Given the description of an element on the screen output the (x, y) to click on. 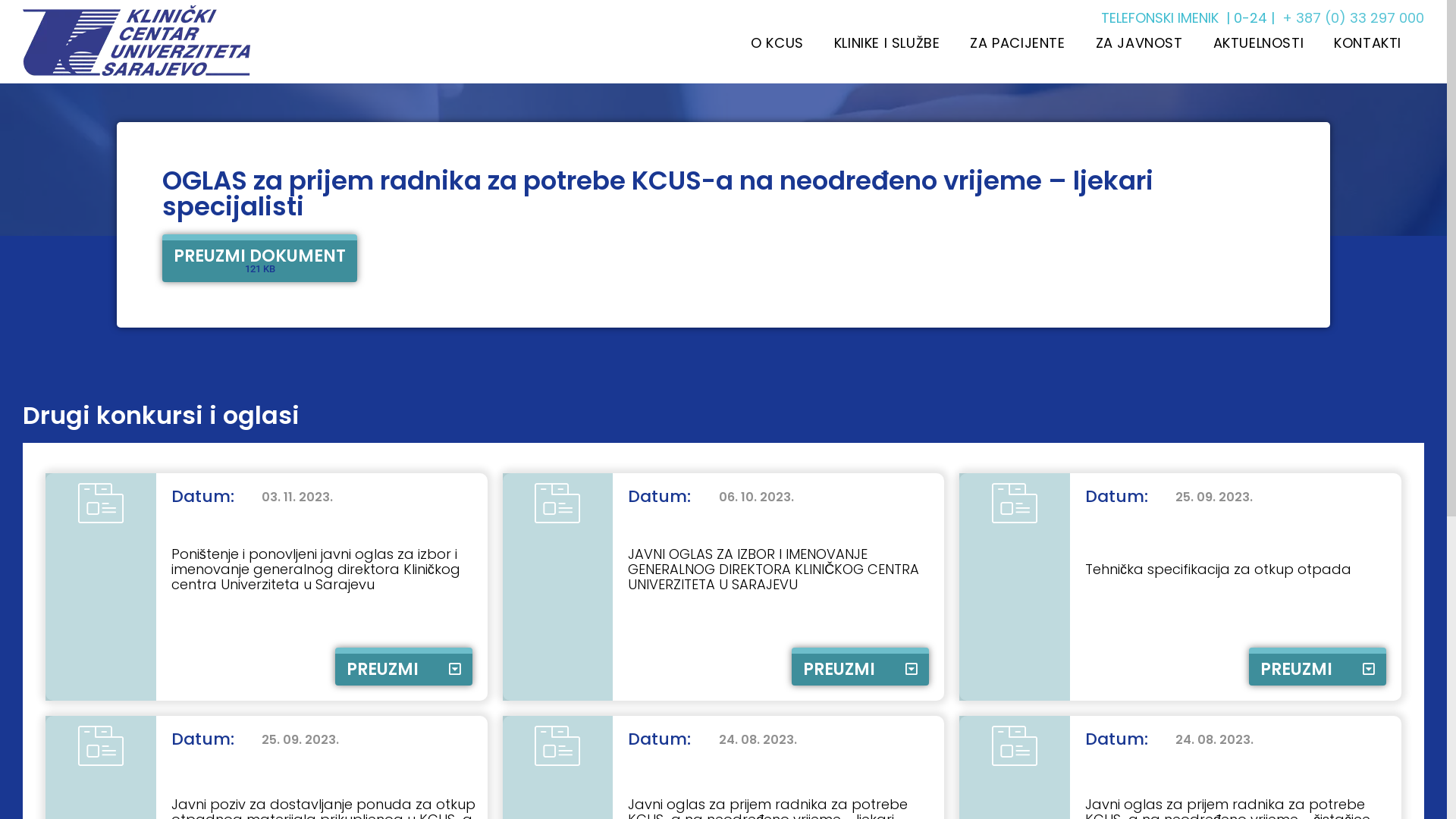
AKTUELNOSTI Element type: text (1258, 42)
PREUZMI Element type: text (403, 666)
+ 387 (0) 33 297 000 Element type: text (1353, 17)
ZA PACIJENTE Element type: text (1016, 42)
TELEFONSKI IMENIK Element type: text (1159, 17)
O KCUS Element type: text (777, 42)
PREUZMI Element type: text (1317, 666)
KONTAKTI Element type: text (1367, 42)
PREUZMI Element type: text (859, 666)
PREUZMI DOKUMENT
121 KB Element type: text (259, 258)
ZA JAVNOST Element type: text (1139, 42)
